Given the description of an element on the screen output the (x, y) to click on. 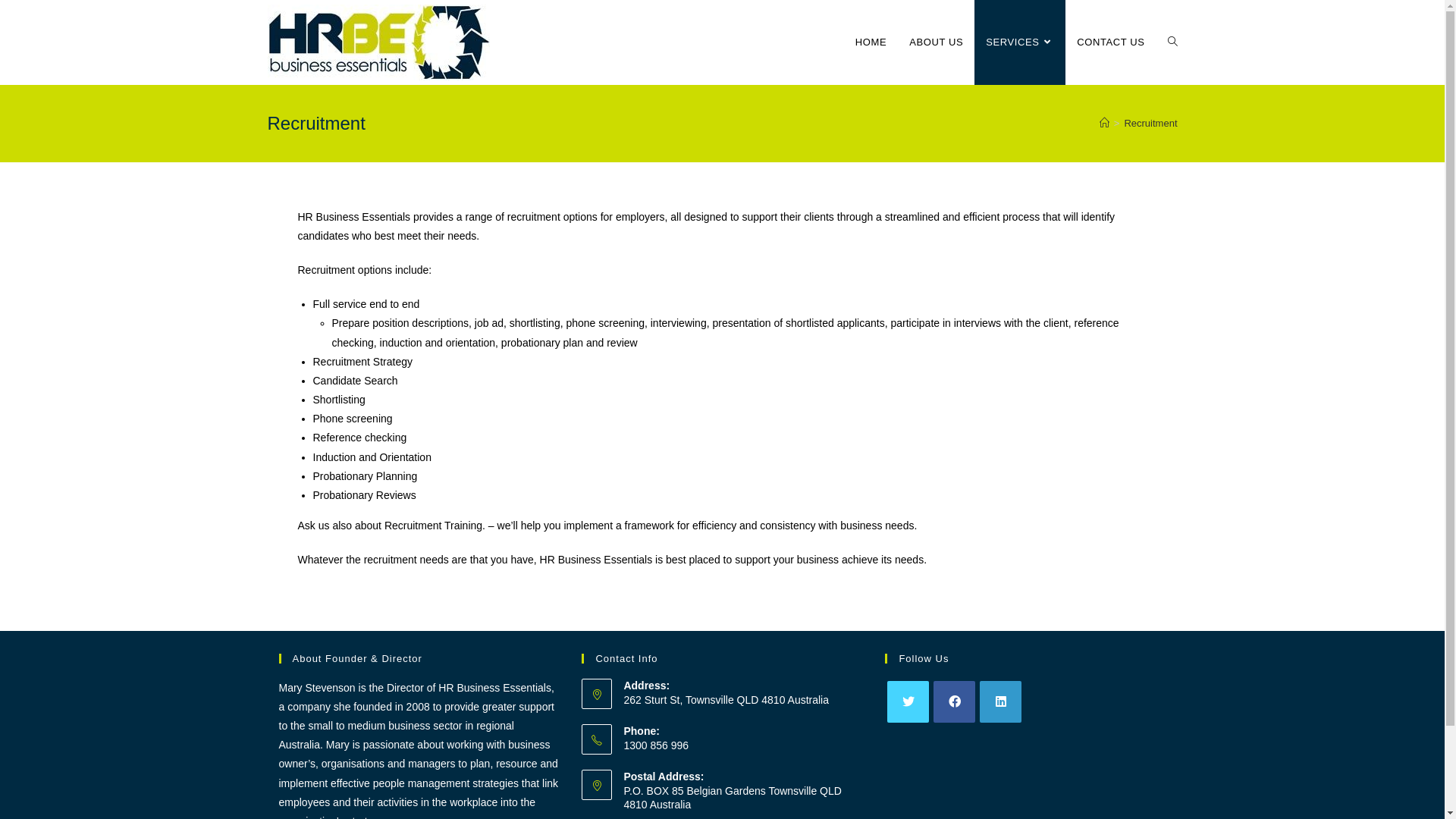
1300 856 996 Element type: text (742, 745)
Recruitment Element type: text (1149, 122)
HOME Element type: text (870, 42)
CONTACT US Element type: text (1110, 42)
ABOUT US Element type: text (935, 42)
SERVICES Element type: text (1019, 42)
